Given the description of an element on the screen output the (x, y) to click on. 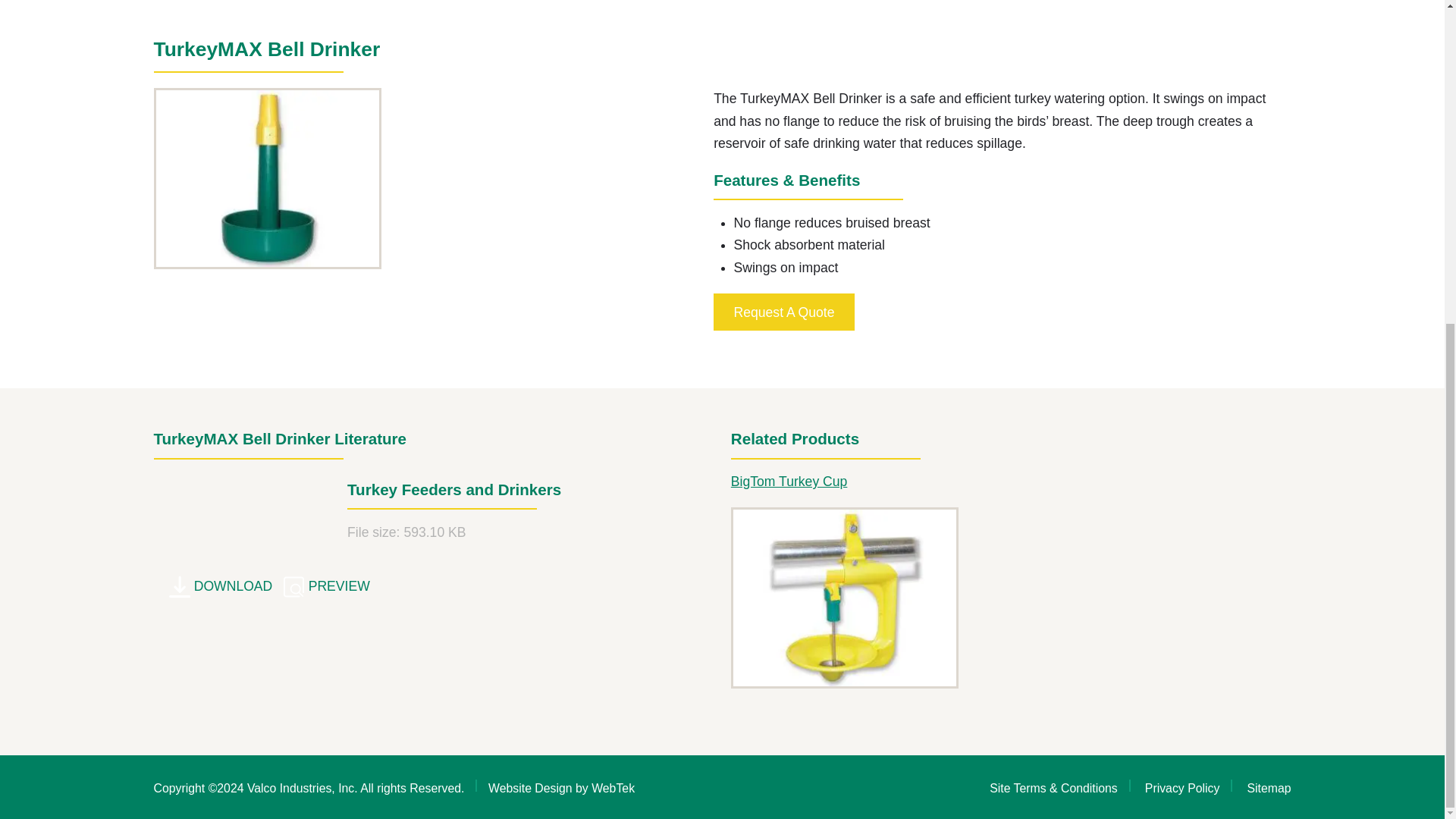
Turkey Feeders and Drinkers (218, 586)
